Given the description of an element on the screen output the (x, y) to click on. 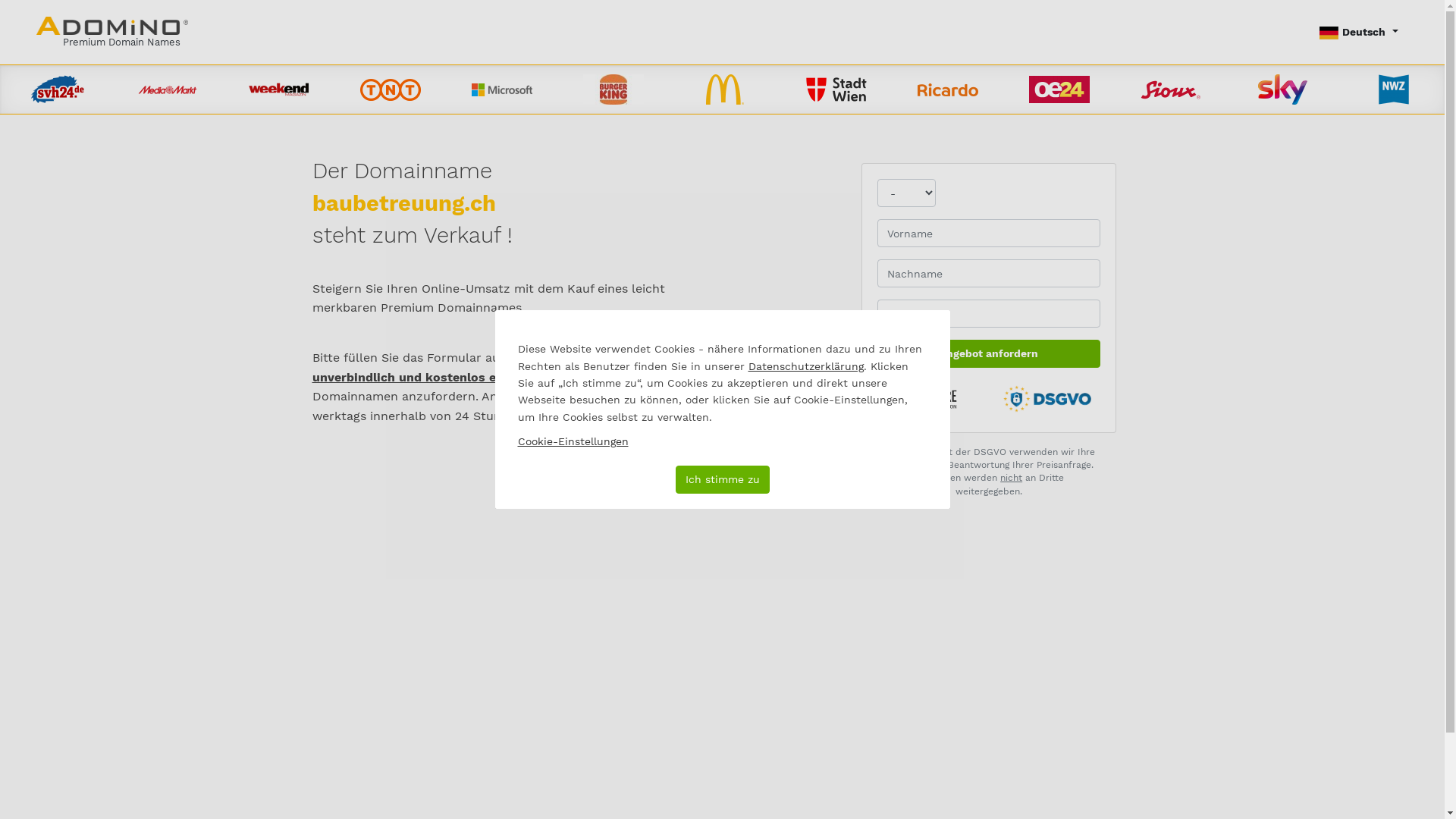
Angebot anfordern Element type: text (989, 353)
Cookie-Einstellungen Element type: text (572, 441)
Deutsch Element type: text (1358, 32)
Ich stimme zu Element type: text (721, 479)
Premium Domain Names Element type: text (112, 31)
